Given the description of an element on the screen output the (x, y) to click on. 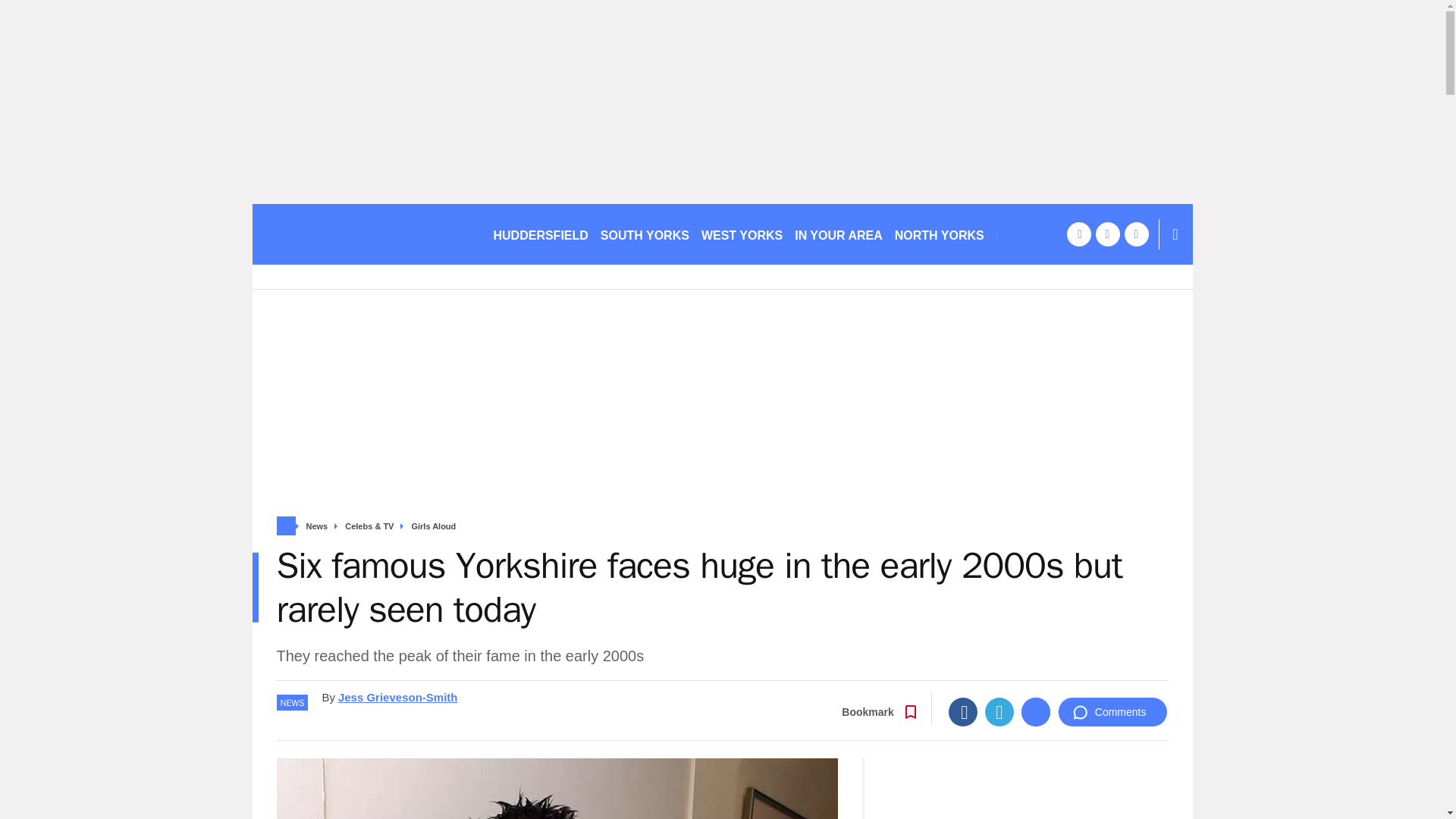
Comments (1112, 711)
SOUTH YORKS (644, 233)
SPORT (1023, 233)
IN YOUR AREA (838, 233)
huddersfieldexaminer (365, 233)
Facebook (962, 711)
facebook (1077, 233)
Twitter (999, 711)
HUDDERSFIELD (540, 233)
WEST YORKS (742, 233)
